Given the description of an element on the screen output the (x, y) to click on. 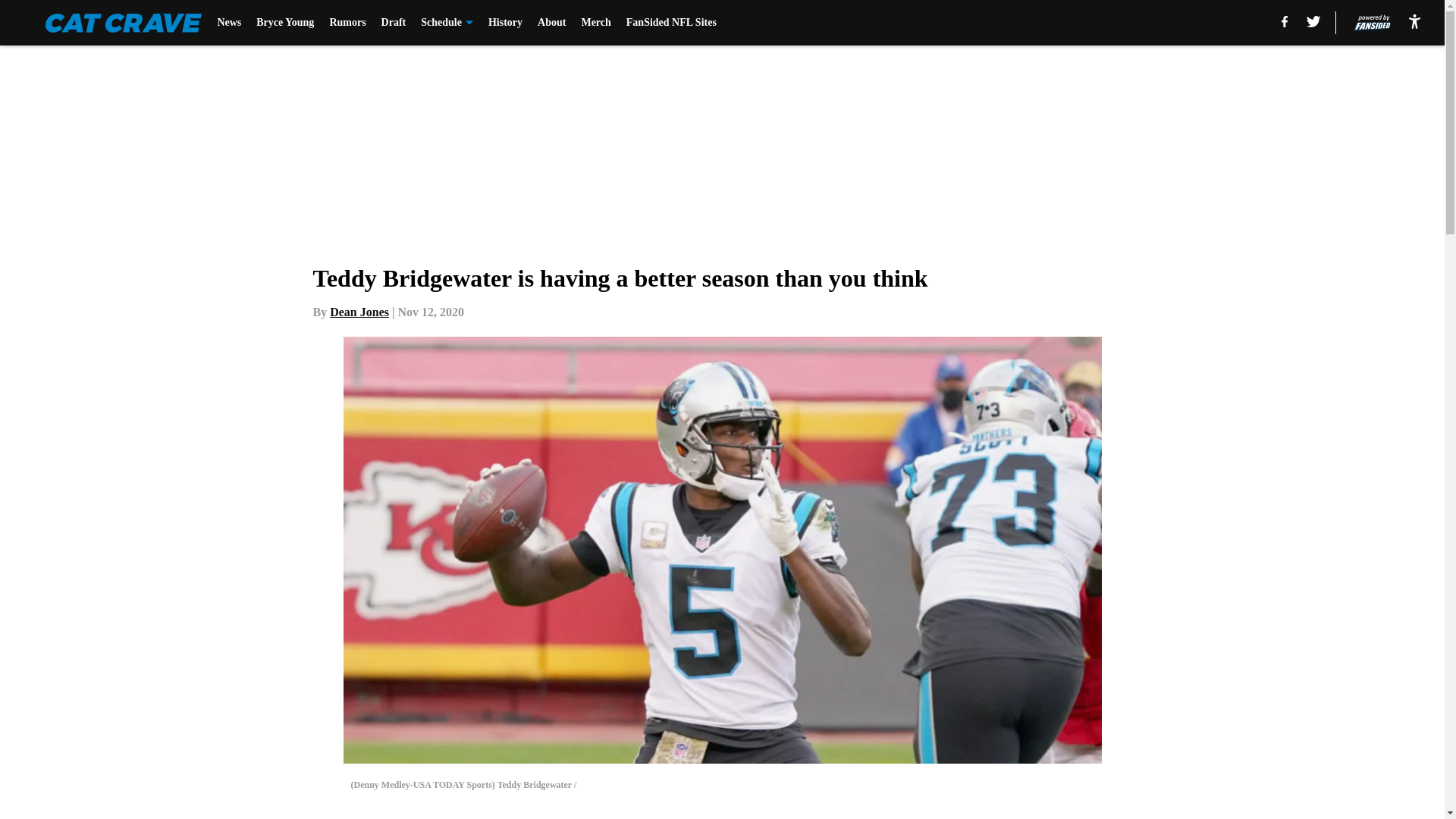
About (551, 22)
Merch (595, 22)
Draft (393, 22)
Bryce Young (285, 22)
History (504, 22)
Dean Jones (359, 311)
News (228, 22)
FanSided NFL Sites (671, 22)
Rumors (347, 22)
